Given the description of an element on the screen output the (x, y) to click on. 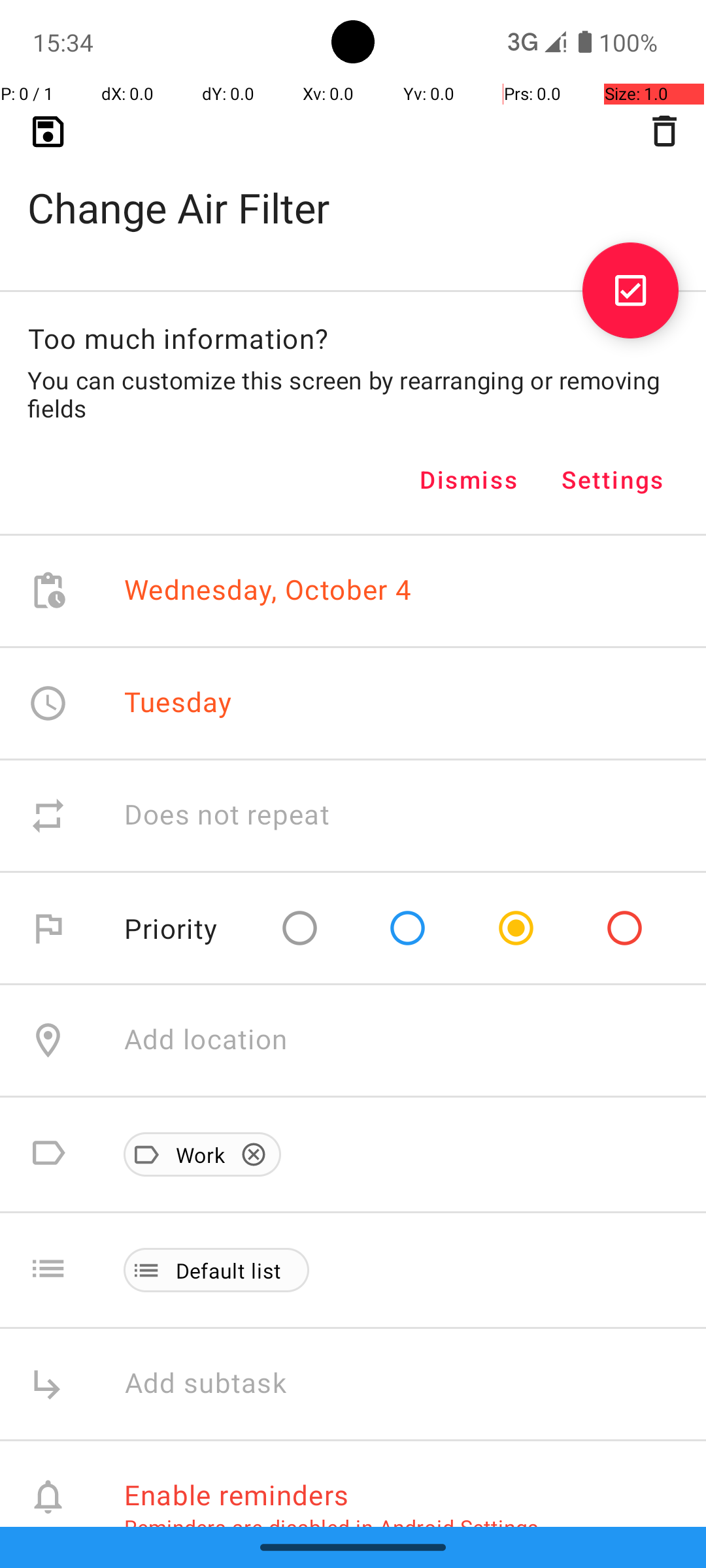
Wednesday, October 4 Element type: android.widget.TextView (267, 590)
